Given the description of an element on the screen output the (x, y) to click on. 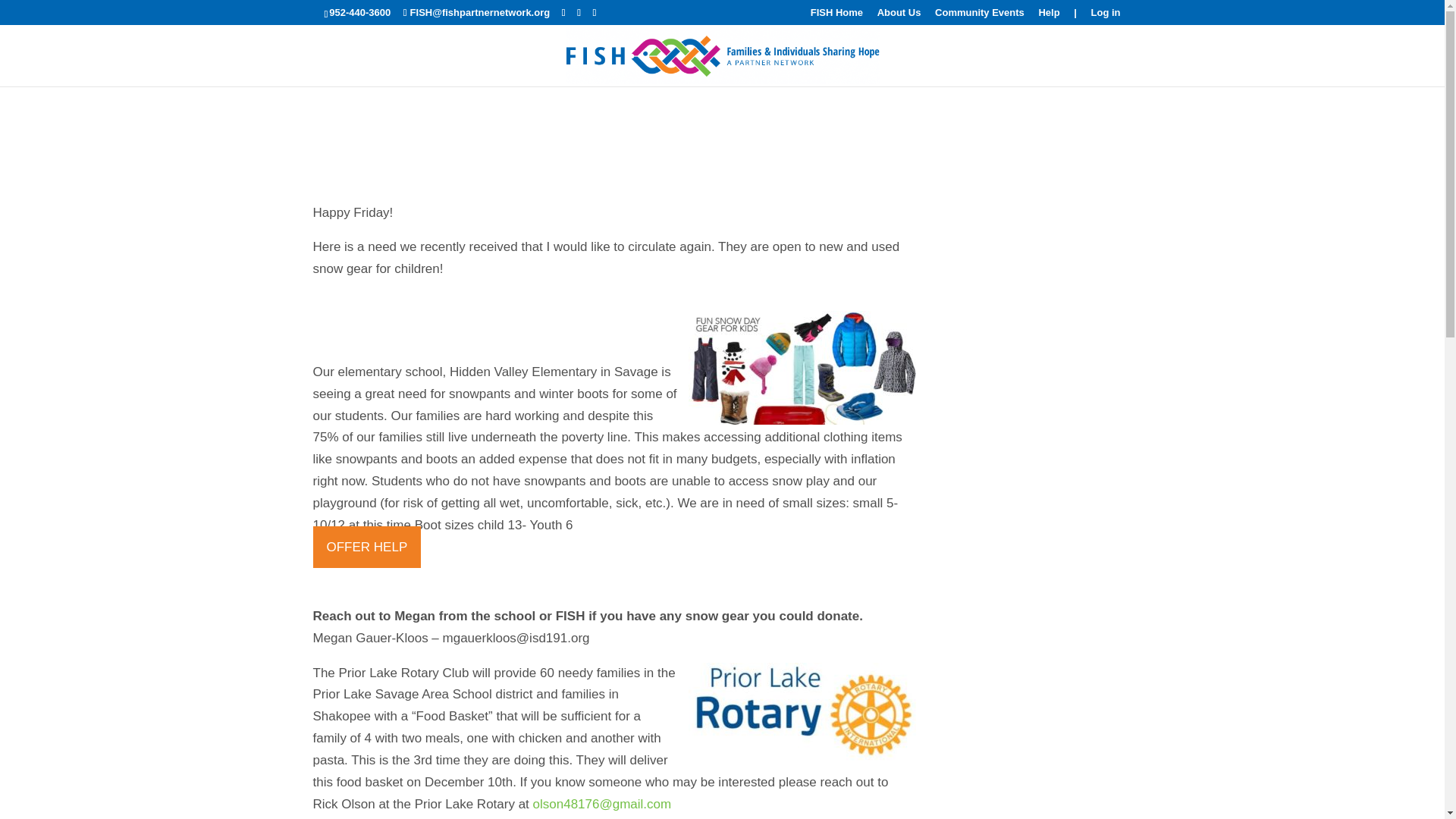
Help (1048, 16)
OFFER HELP (366, 547)
FISH Home (836, 16)
Log in (1104, 16)
Community Events (979, 16)
About Us (899, 16)
